Given the description of an element on the screen output the (x, y) to click on. 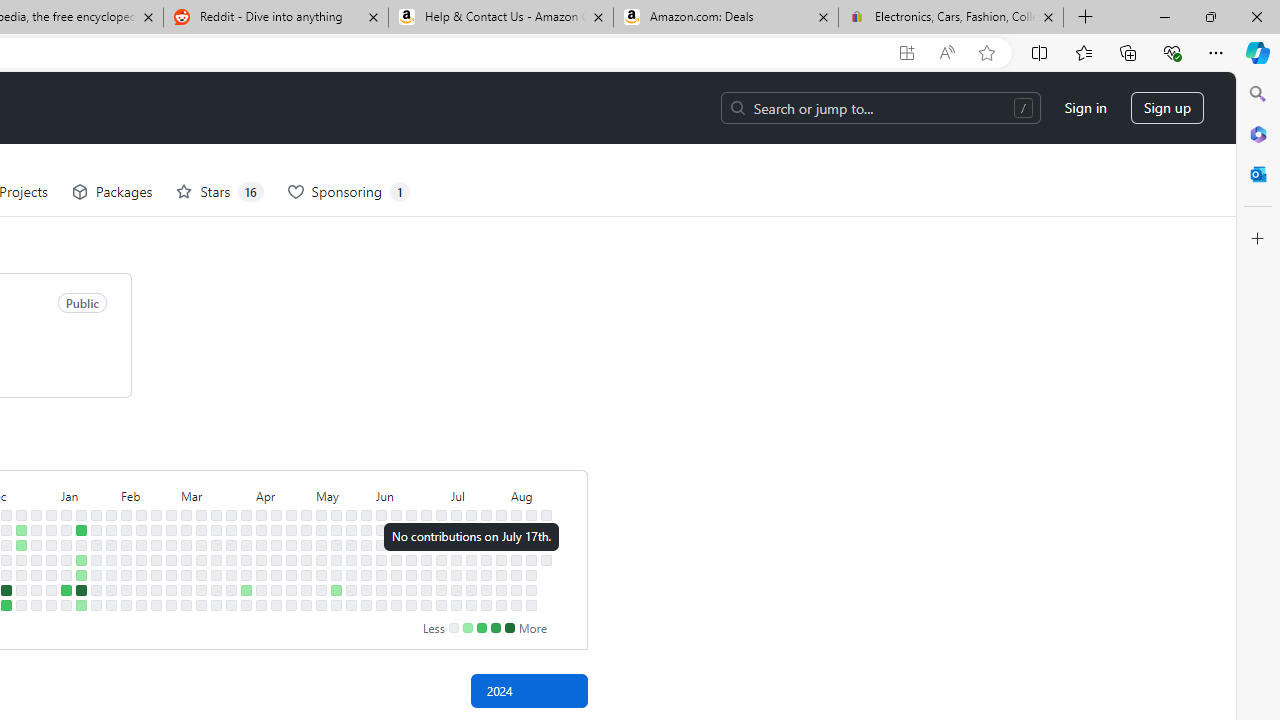
No contributions on January 13th. (66, 605)
No contributions on February 22nd. (156, 574)
No contributions on May 30th. (366, 574)
No contributions on August 6th. (516, 544)
No contributions on April 6th. (246, 605)
No contributions on March 18th. (216, 529)
No contributions on July 16th. (471, 544)
No contributions on January 29th. (111, 529)
No contributions on June 5th. (381, 559)
No contributions on June 2nd. (381, 515)
No contributions on June 18th. (411, 544)
No contributions on August 21st. (546, 559)
